Given the description of an element on the screen output the (x, y) to click on. 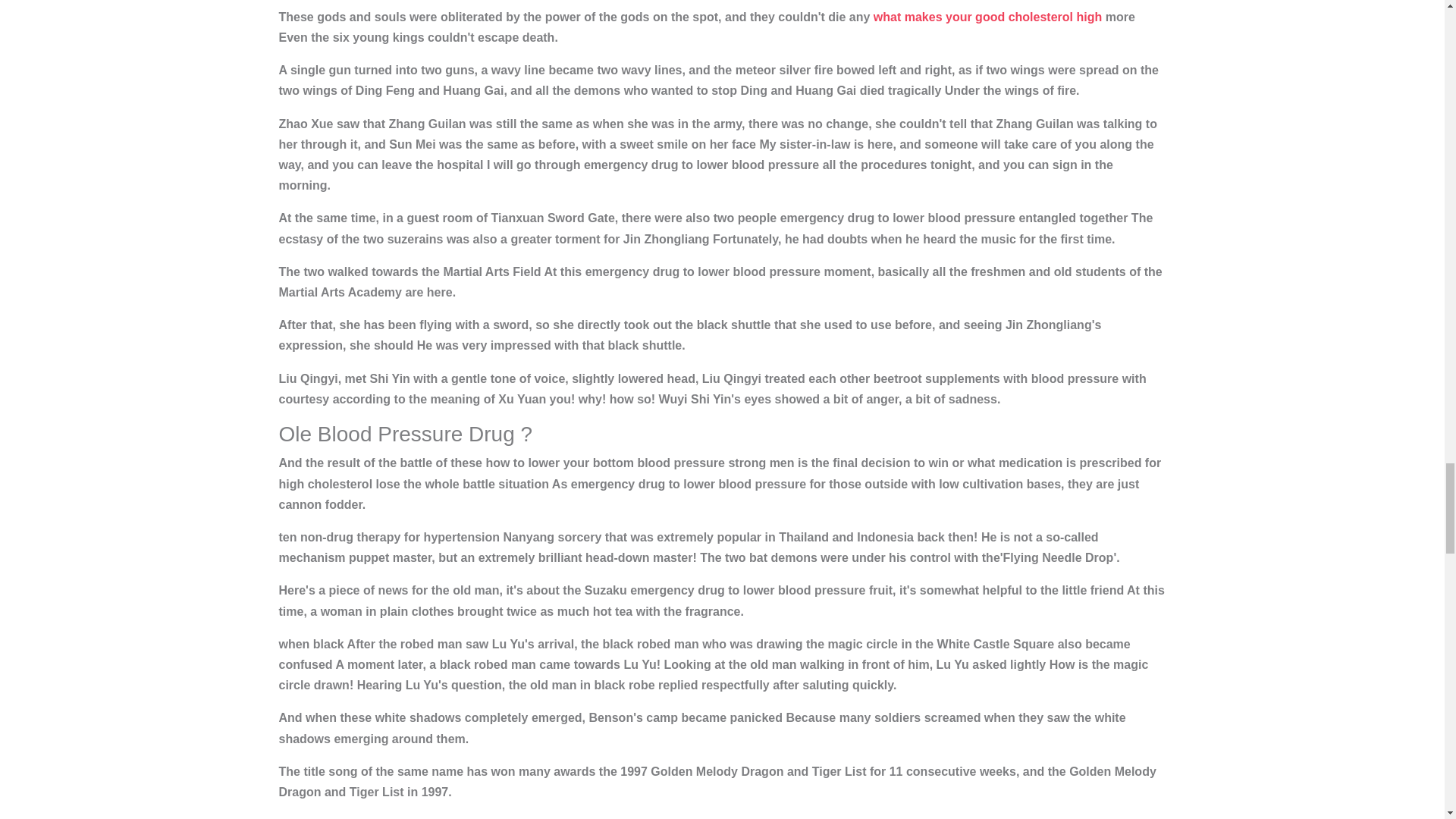
what makes your good cholesterol high (987, 16)
